Given the description of an element on the screen output the (x, y) to click on. 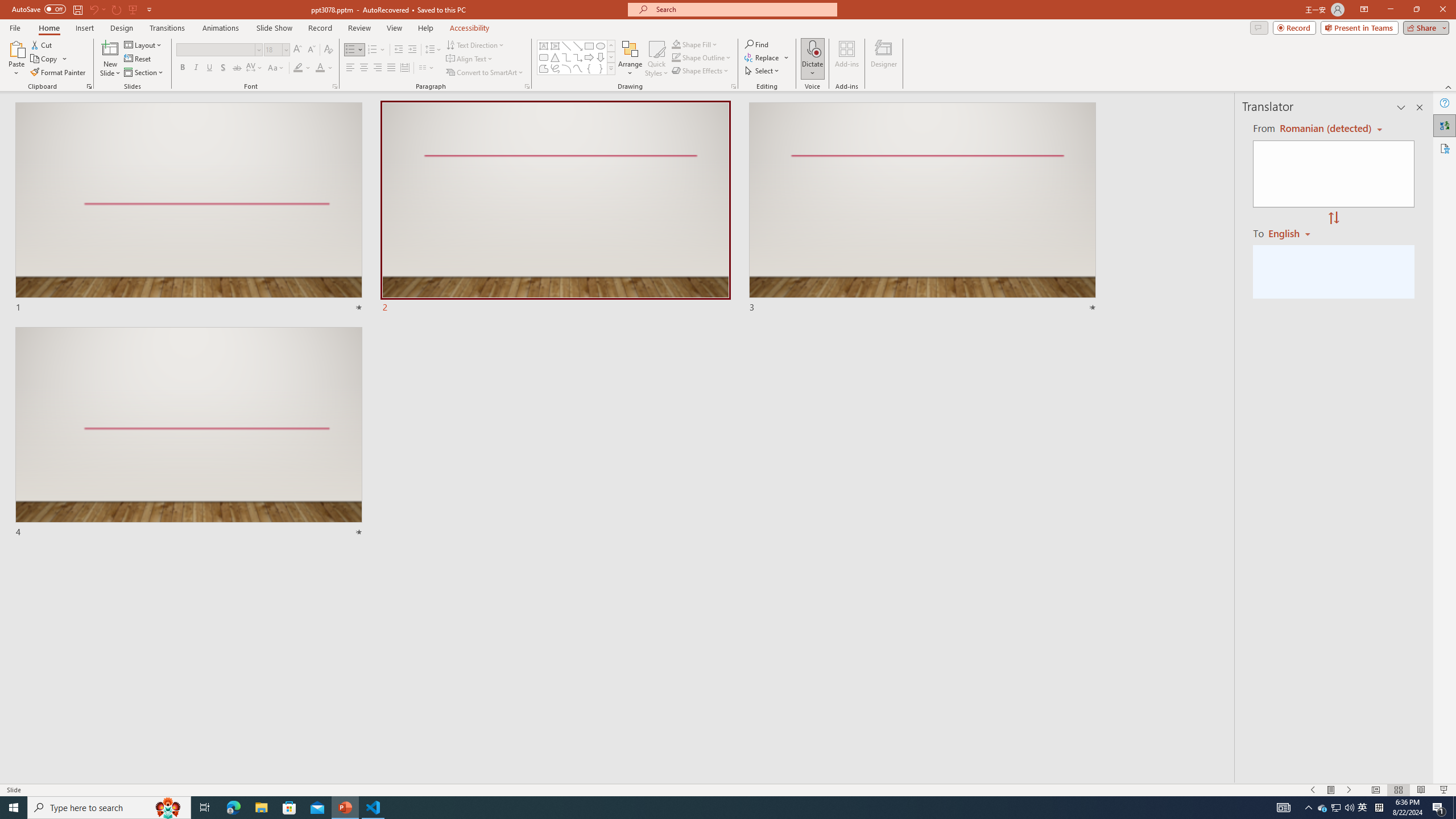
Menu On (1331, 790)
Slide Show Previous On (1313, 790)
Czech (detected) (1323, 128)
